Given the description of an element on the screen output the (x, y) to click on. 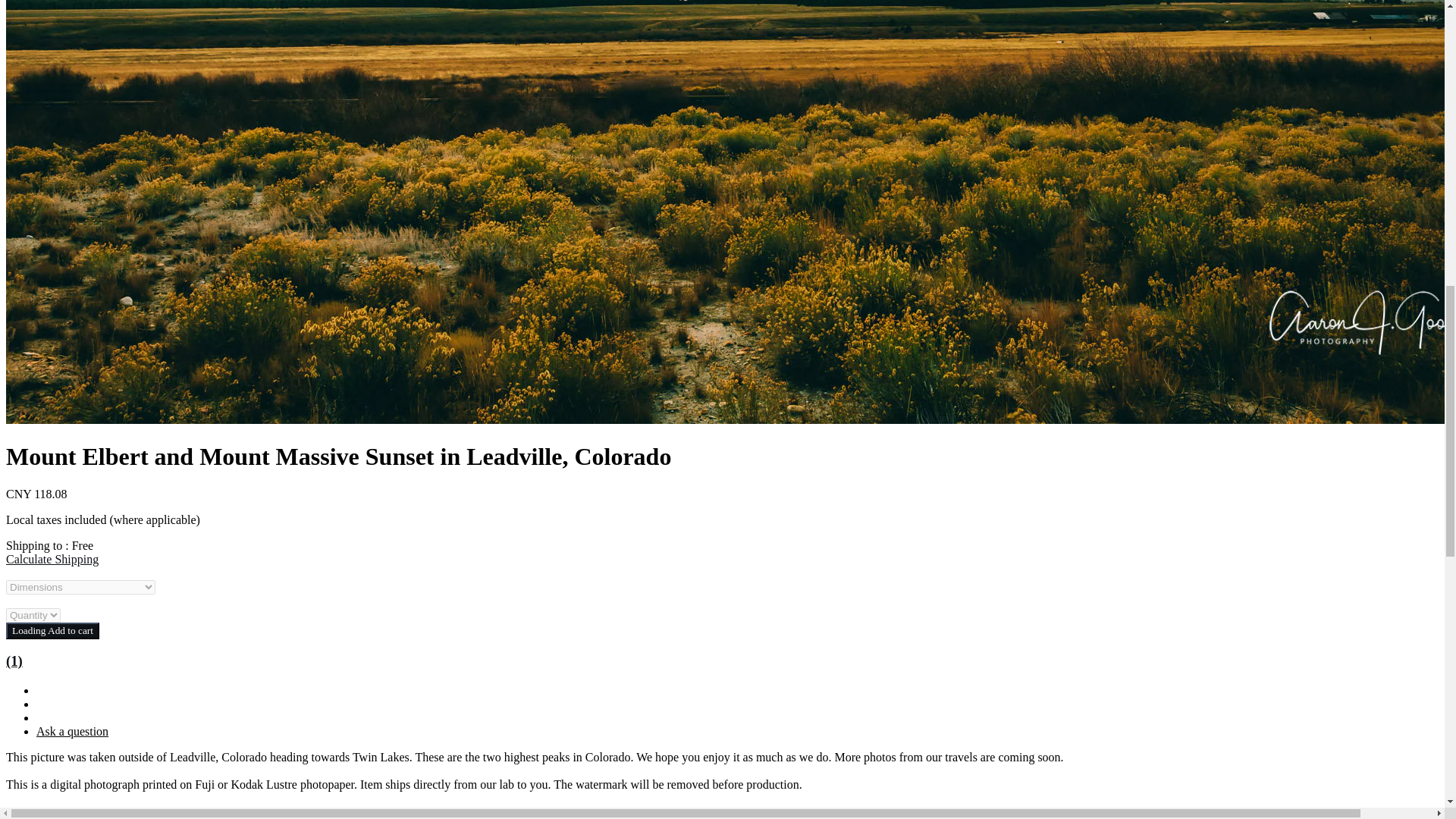
Ask a question (71, 730)
Calculate Shipping (52, 558)
Loading Add to cart (52, 630)
